Given the description of an element on the screen output the (x, y) to click on. 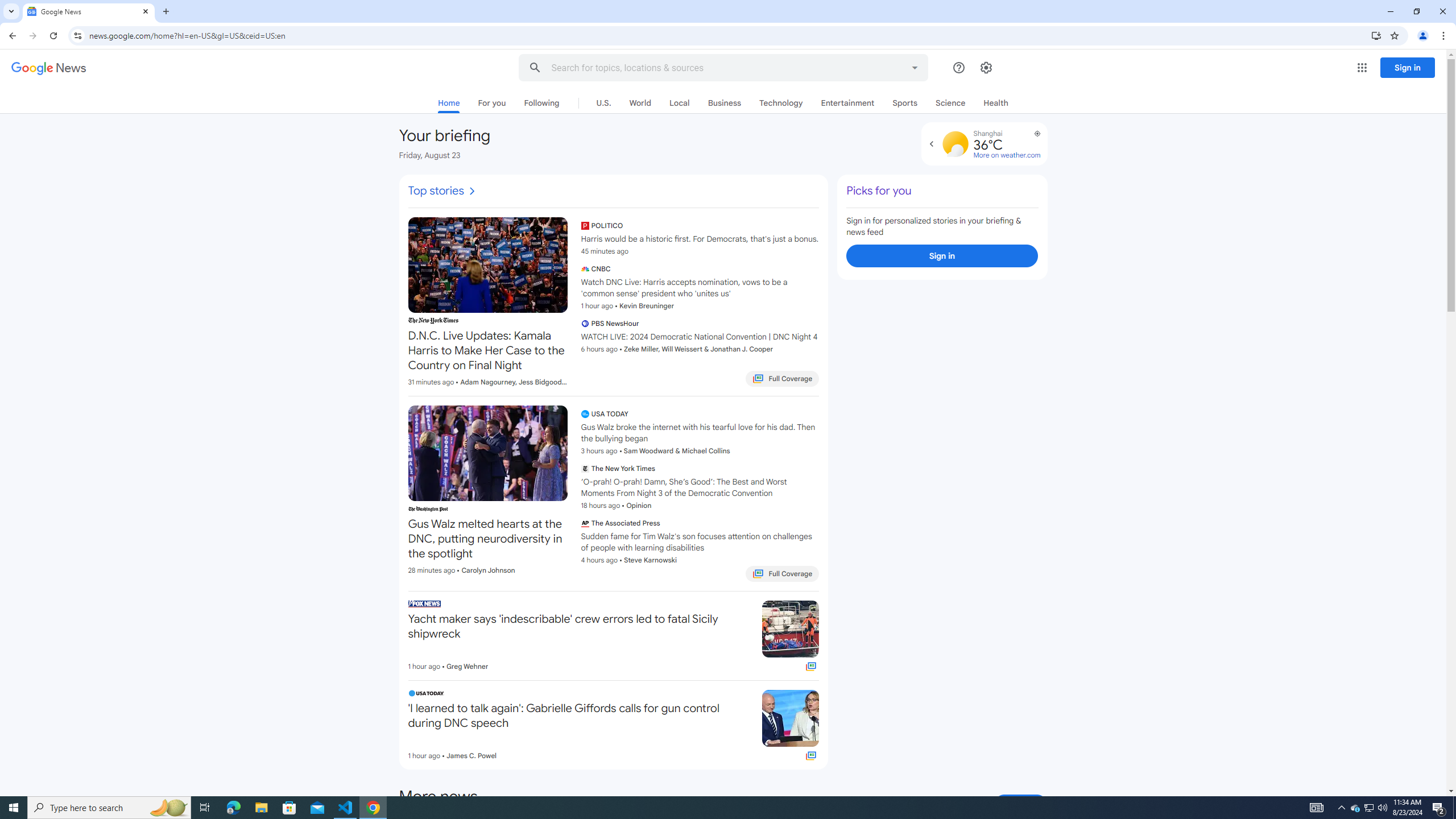
Install Google News (1376, 35)
